Given the description of an element on the screen output the (x, y) to click on. 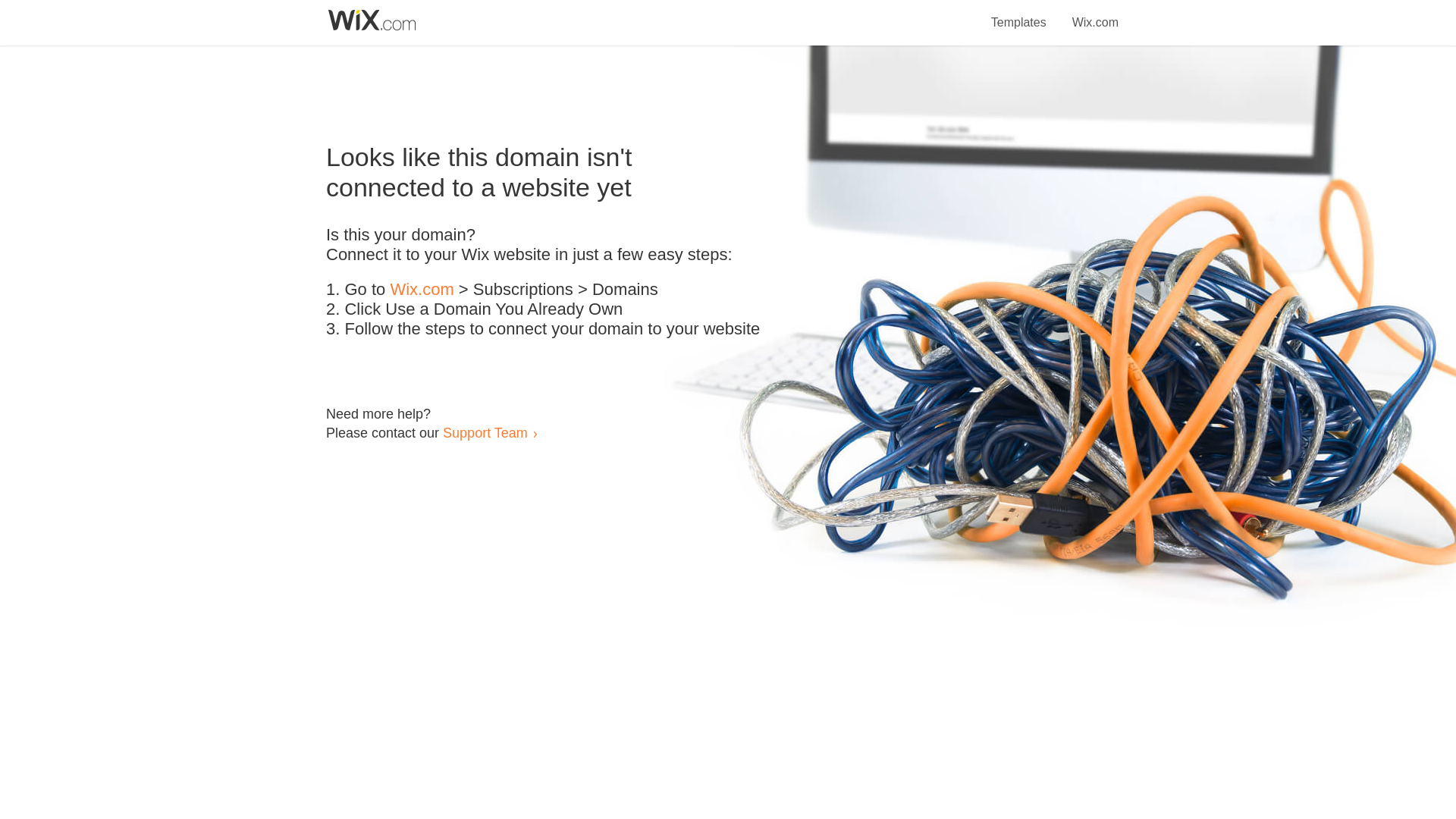
Wix.com (421, 289)
Templates (1018, 14)
Support Team (484, 432)
Wix.com (1095, 14)
